Given the description of an element on the screen output the (x, y) to click on. 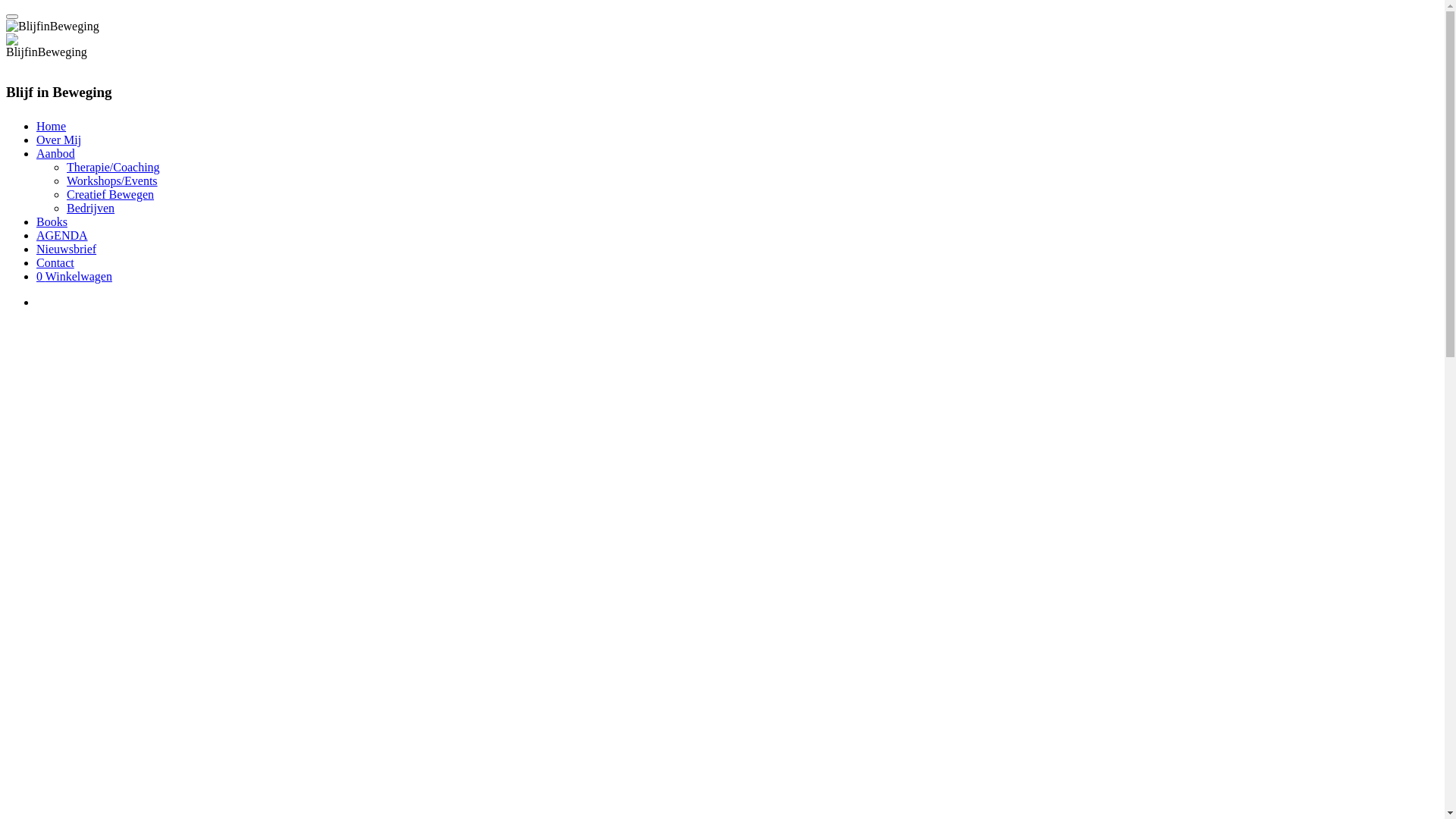
BlijfinBeweging Element type: hover (46, 46)
Nieuwsbrief Element type: text (66, 248)
Bedrijven Element type: text (90, 207)
Creatief Bewegen Element type: text (109, 194)
0 Winkelwagen Element type: text (74, 275)
Aanbod Element type: text (55, 153)
Contact Element type: text (55, 262)
BlijfinBeweging Element type: hover (52, 26)
Home Element type: text (50, 125)
Therapie/Coaching Element type: text (113, 166)
Workshops/Events Element type: text (111, 180)
Books Element type: text (51, 221)
AGENDA Element type: text (61, 235)
Over Mij Element type: text (58, 139)
